Given the description of an element on the screen output the (x, y) to click on. 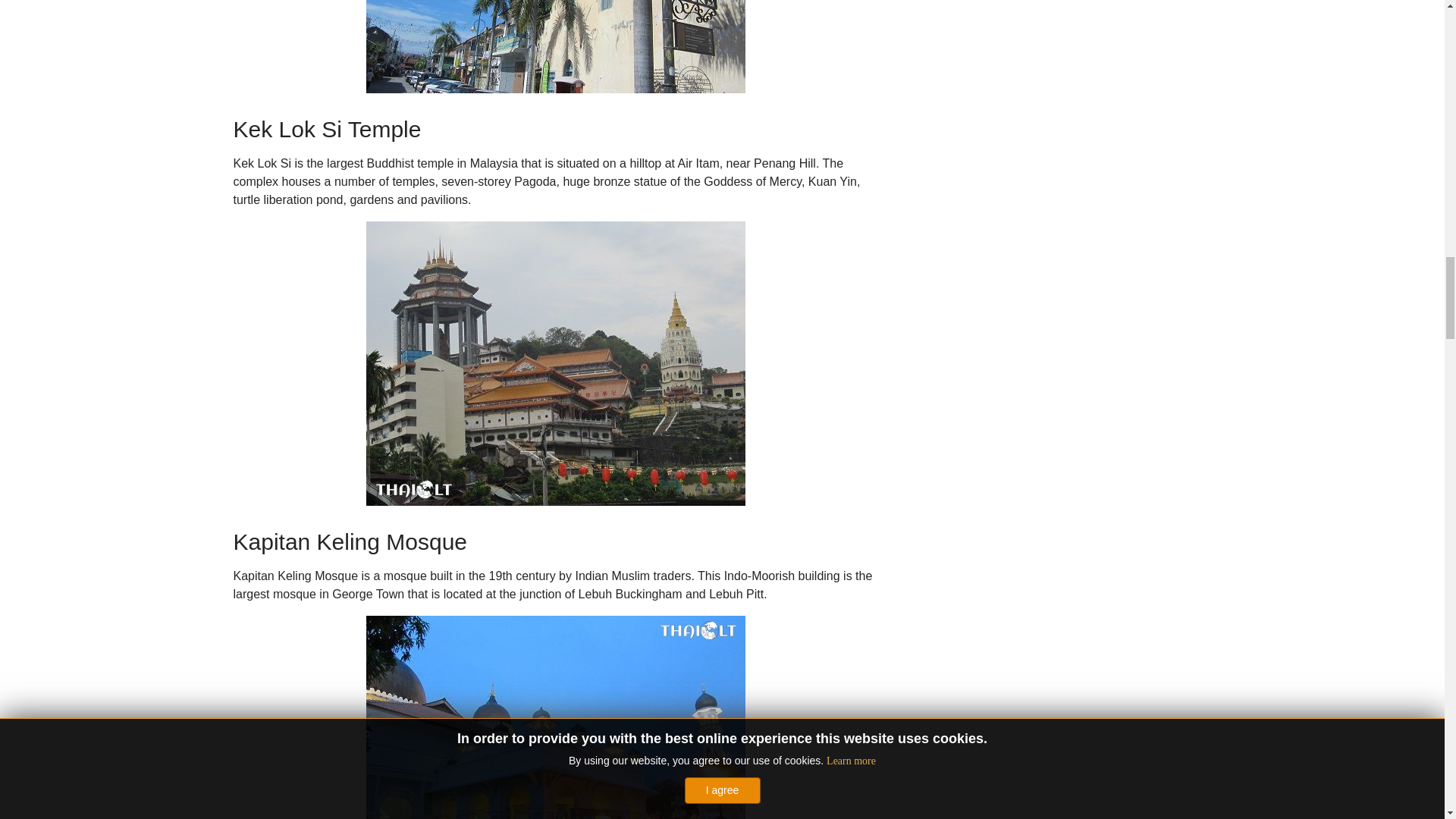
Little India (554, 46)
Kek Lok Si Temple (554, 363)
Masjid Kapitan Keling (554, 717)
